Given the description of an element on the screen output the (x, y) to click on. 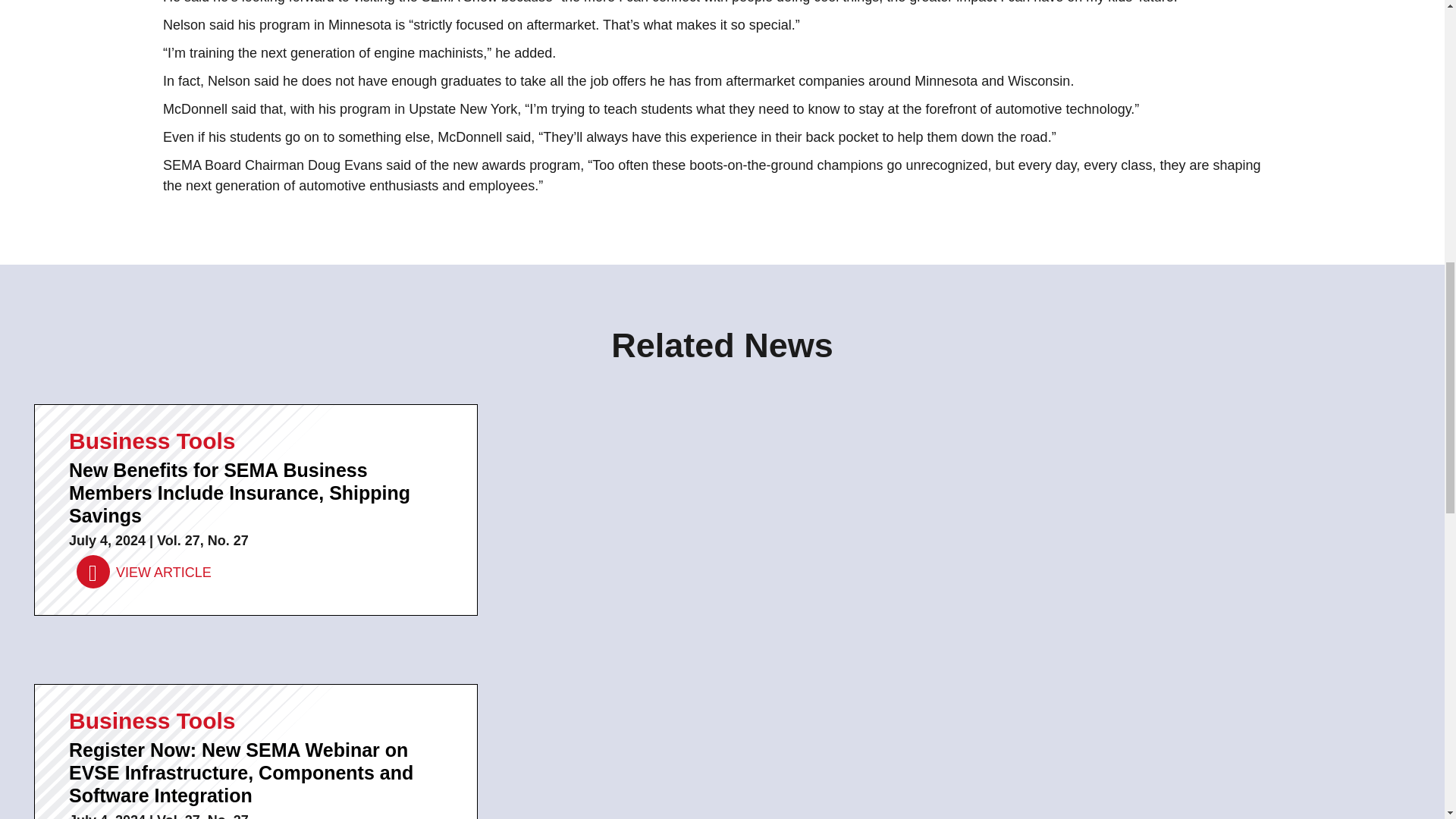
VIEW ARTICLE (143, 572)
